Given the description of an element on the screen output the (x, y) to click on. 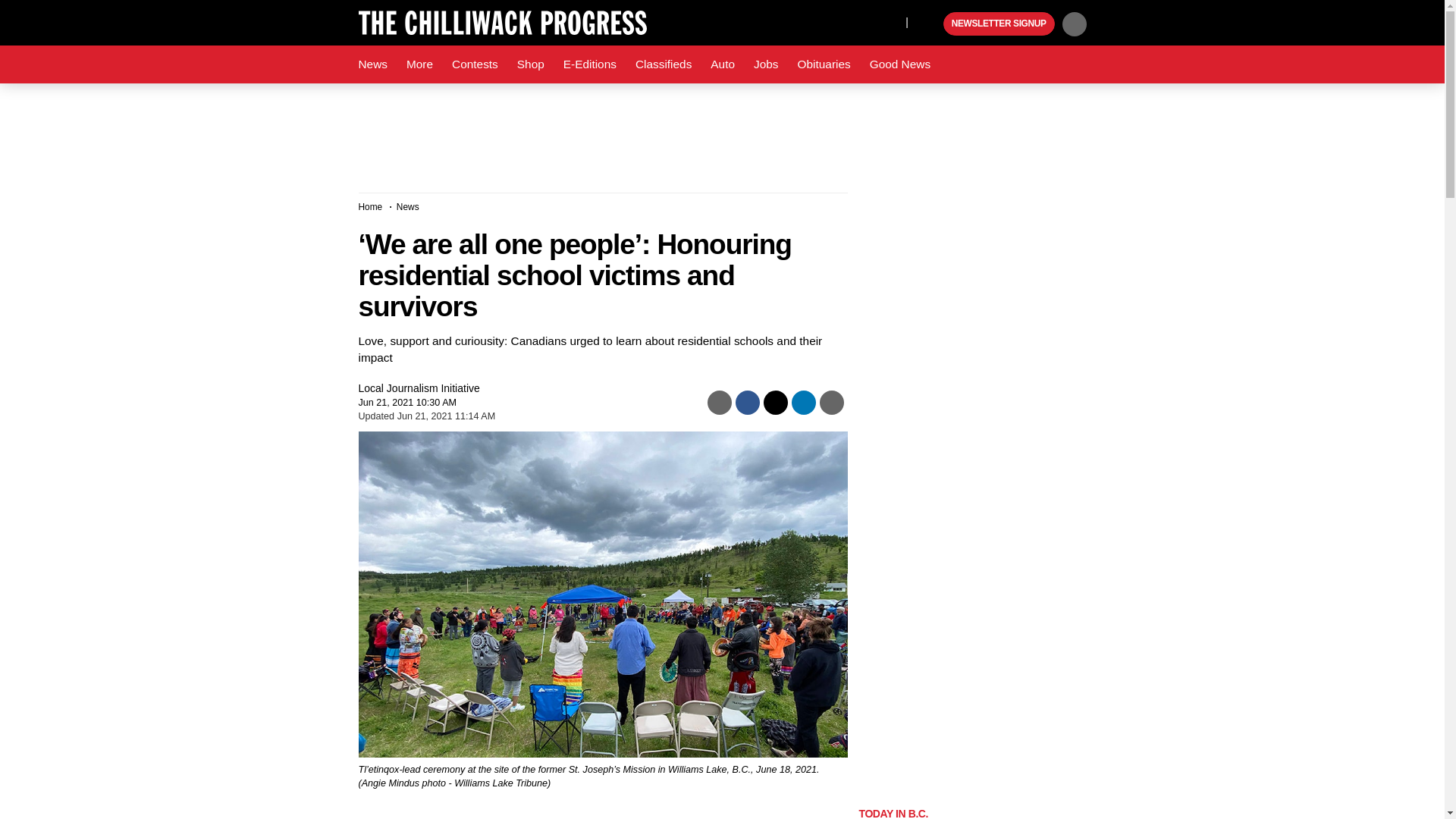
X (889, 21)
News (372, 64)
Black Press Media (929, 24)
Play (929, 24)
NEWSLETTER SIGNUP (998, 24)
